Given the description of an element on the screen output the (x, y) to click on. 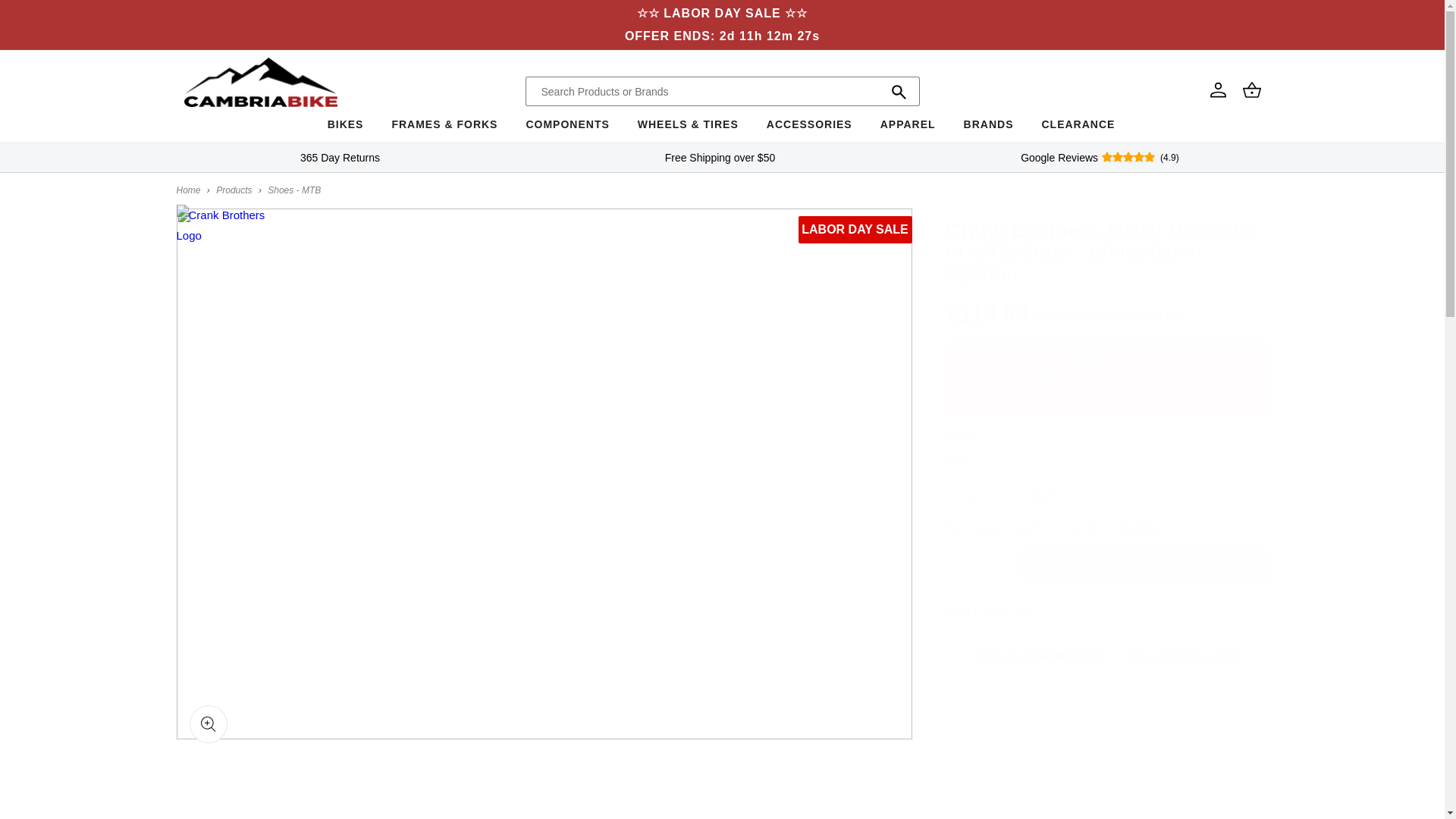
Products (233, 190)
Shoes - MTB (293, 190)
